Given the description of an element on the screen output the (x, y) to click on. 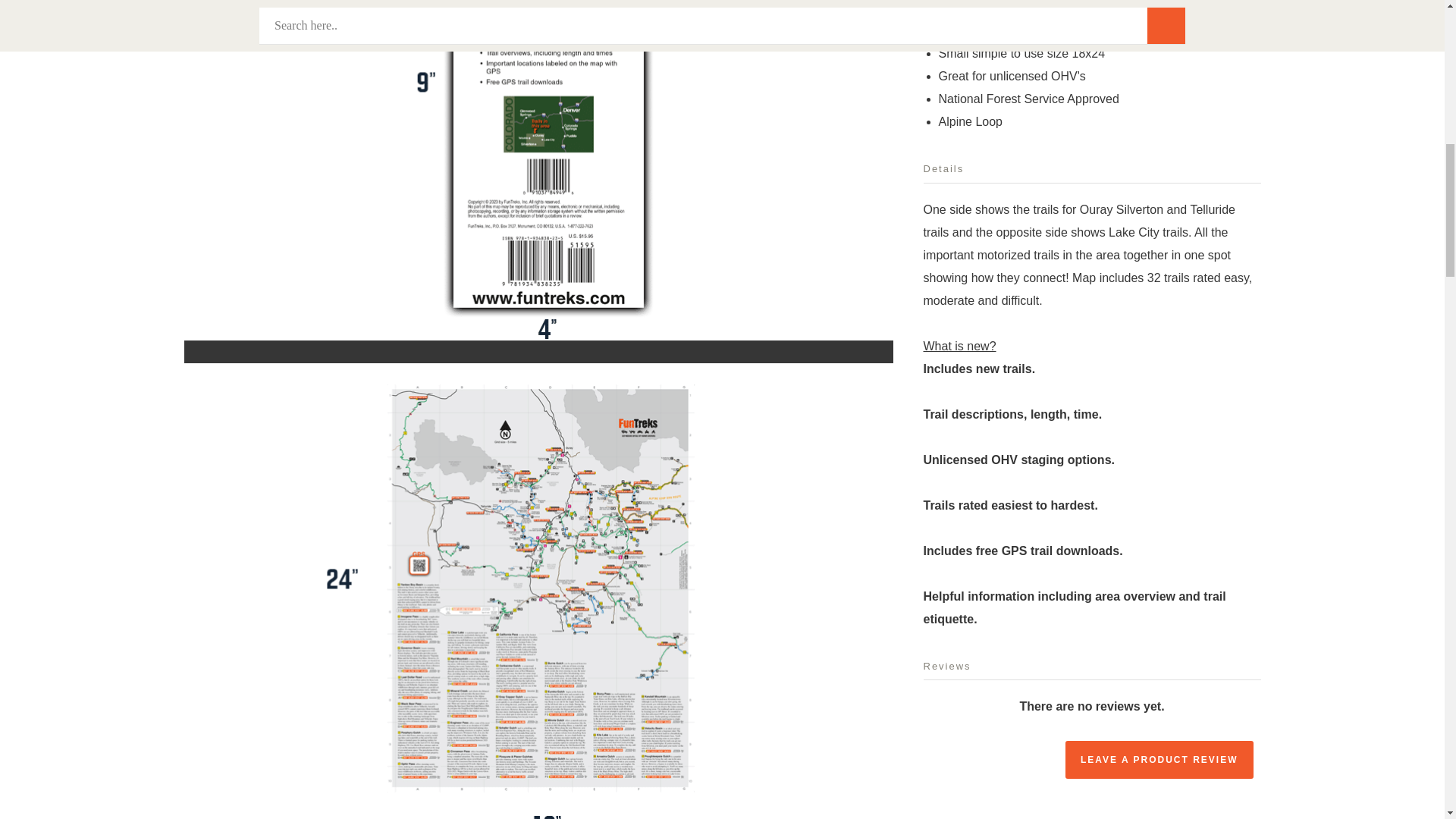
LEAVE A PRODUCT REVIEW (1159, 759)
